Given the description of an element on the screen output the (x, y) to click on. 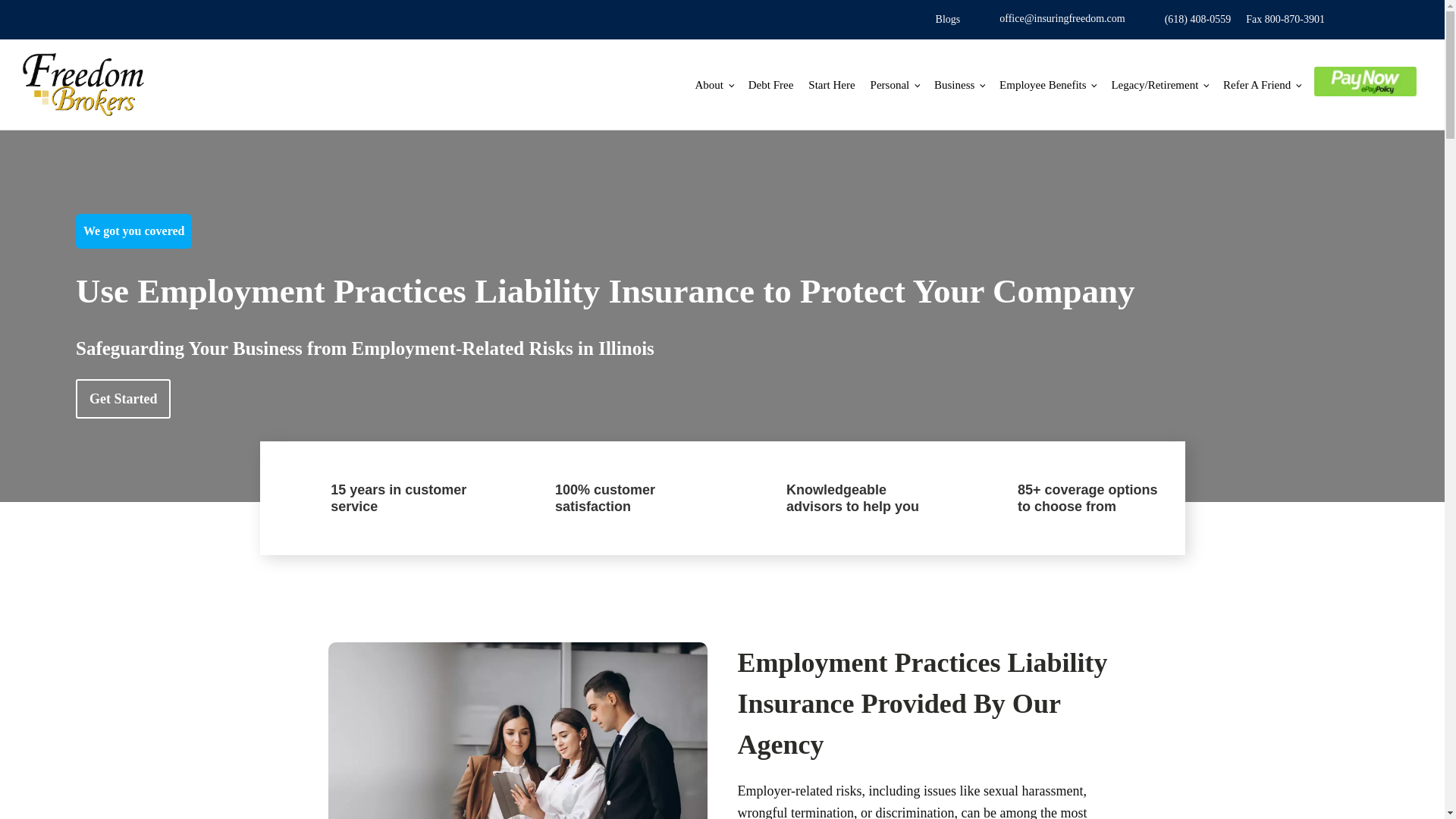
Debt Free (771, 85)
Business (958, 85)
Personal (894, 85)
Employee Benefits (1047, 85)
Start Here (830, 85)
Blogs (948, 19)
About (714, 85)
